Given the description of an element on the screen output the (x, y) to click on. 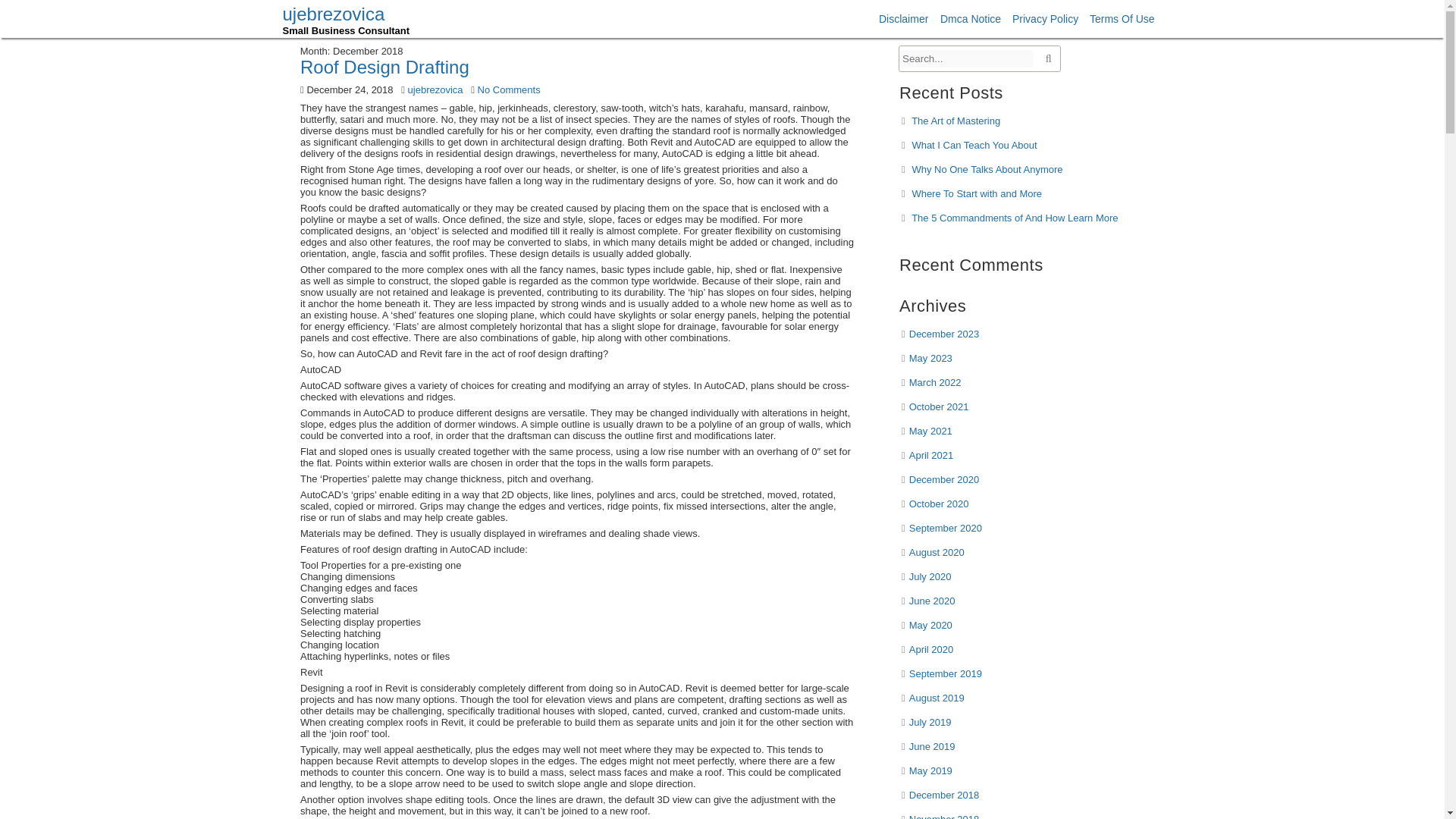
October 2021 (938, 406)
Privacy Policy (1037, 23)
May 2023 (930, 357)
ujebrezovica (345, 20)
December 2023 (943, 333)
ujebrezovica (345, 20)
Dmca Notice (963, 22)
The Art of Mastering (955, 120)
Roof Design Drafting (506, 301)
Where To Start with and More (976, 193)
Why No One Talks About Anymore (986, 169)
No Comments (542, 260)
ujebrezovica (500, 274)
The 5 Commandments of And How Learn More (1014, 217)
Roof Design Drafting (383, 66)
